Given the description of an element on the screen output the (x, y) to click on. 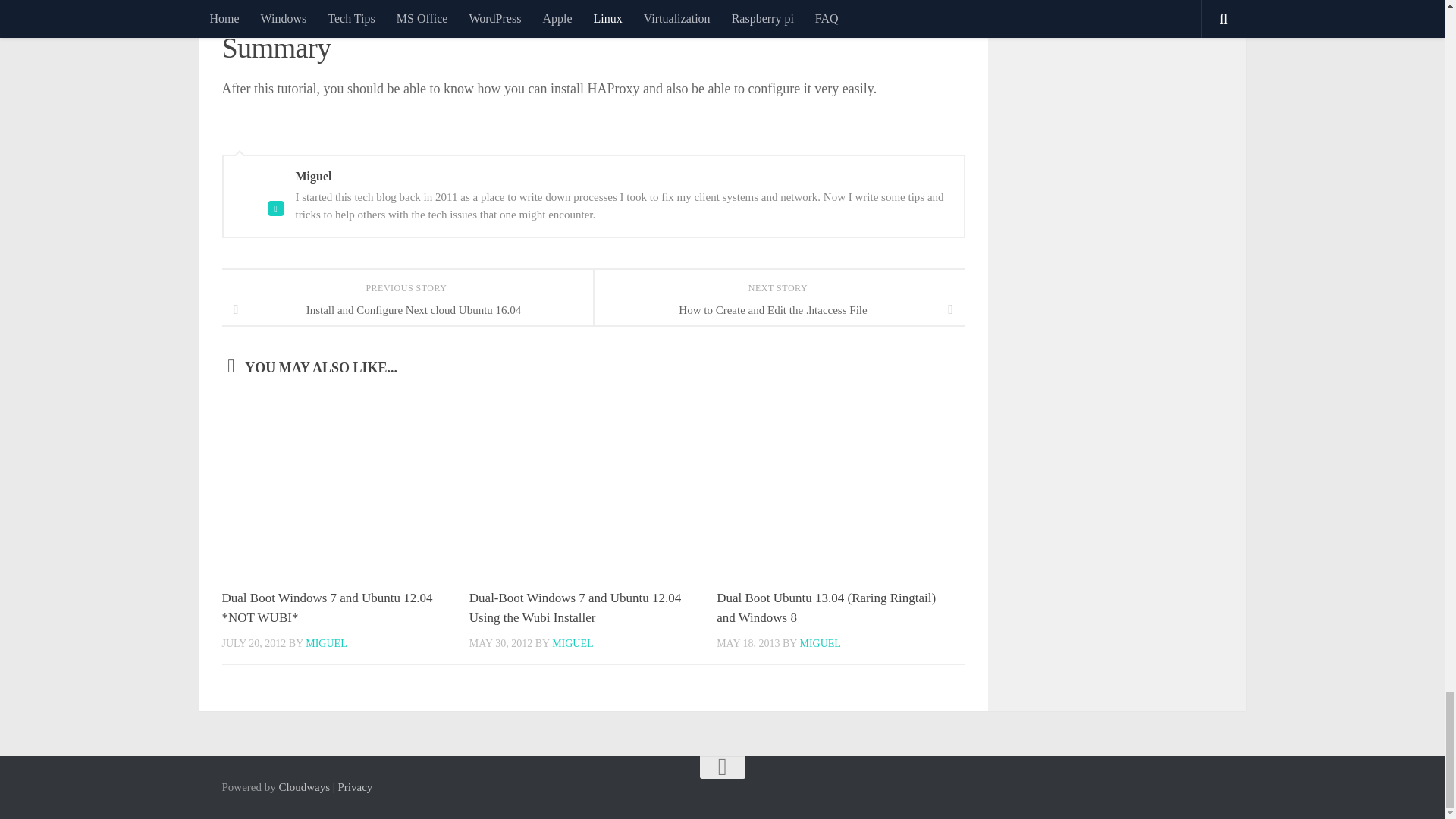
MIGUEL (325, 643)
Posts by Miguel (819, 643)
How to Create and Edit the .htaccess File (777, 309)
Install and Configure Next cloud Ubuntu 16.04 (406, 309)
Posts by Miguel (325, 643)
Posts by Miguel (571, 643)
